Given the description of an element on the screen output the (x, y) to click on. 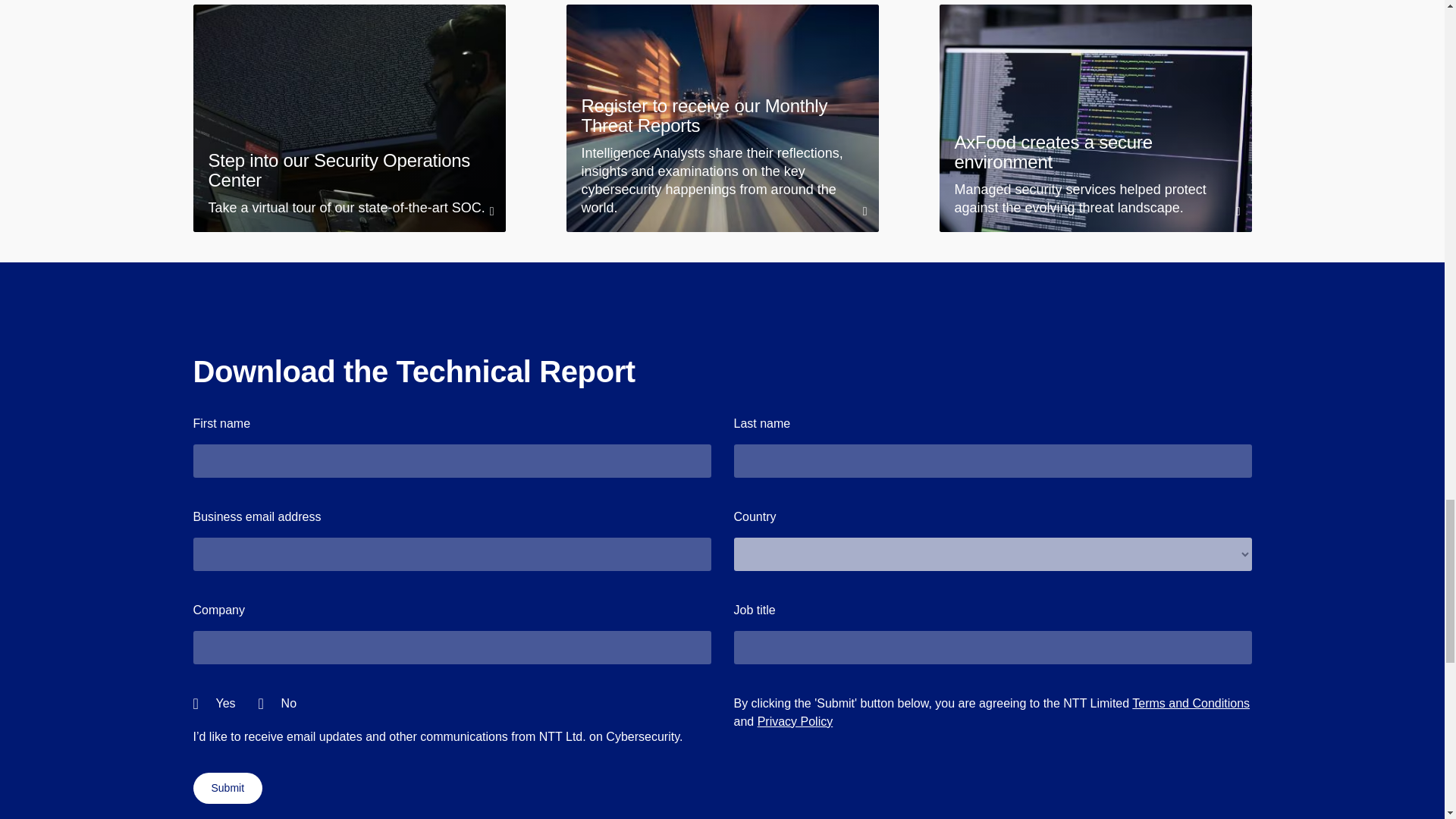
Submit (227, 788)
